Given the description of an element on the screen output the (x, y) to click on. 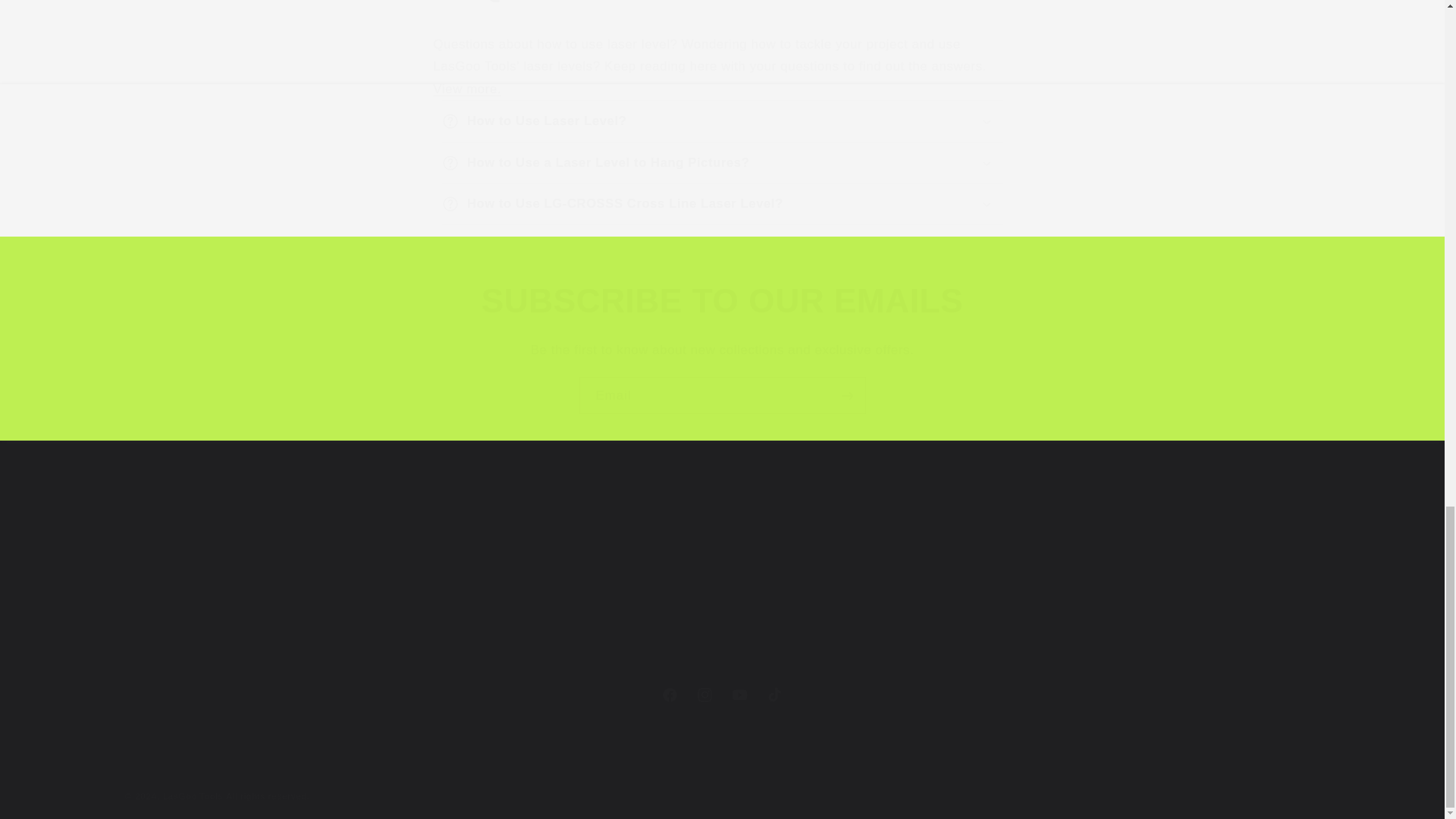
Frequently Asked Questions (466, 88)
Email (874, 587)
SUBSCRIBE TO OUR EMAILS (722, 395)
